Given the description of an element on the screen output the (x, y) to click on. 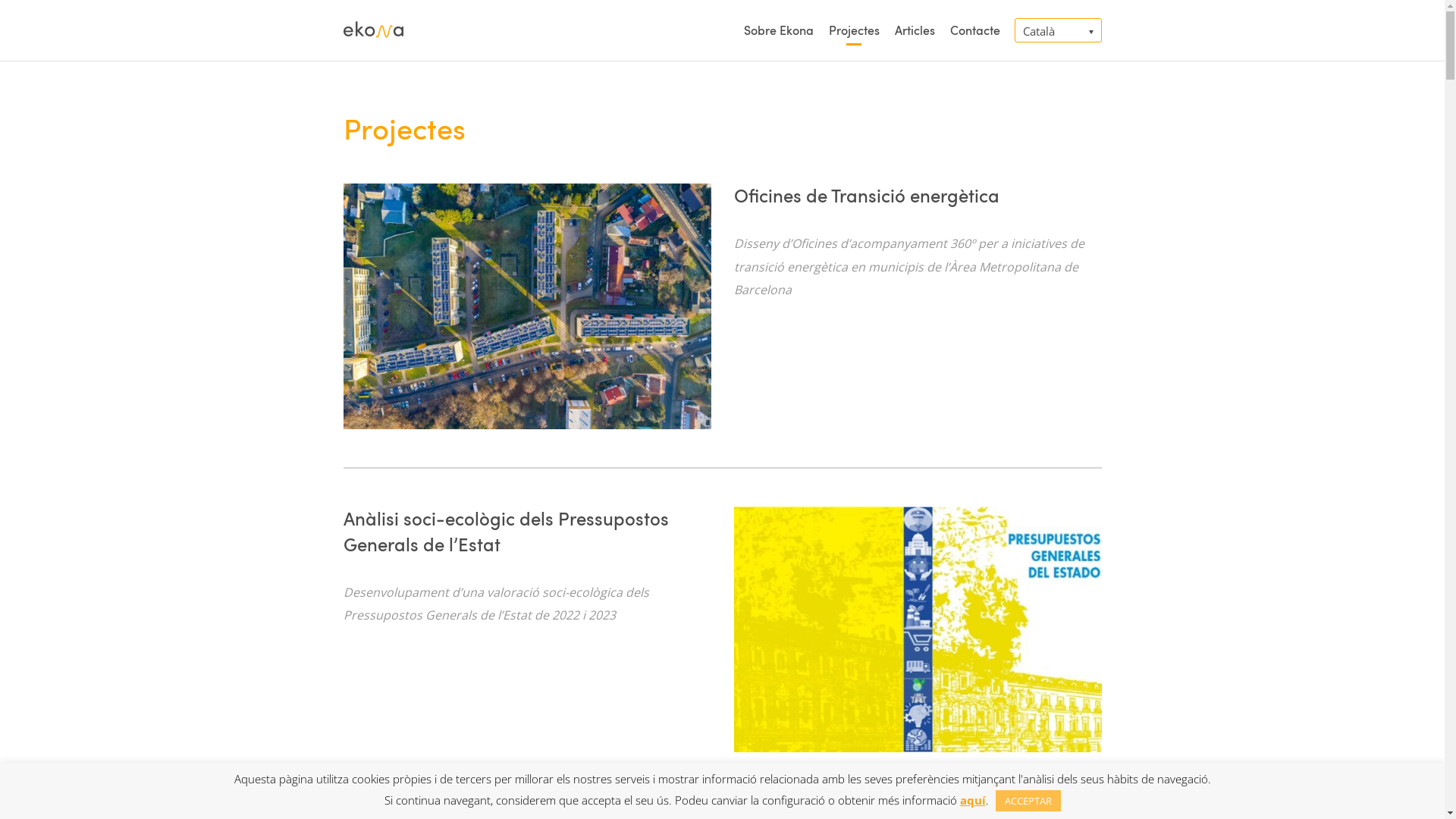
Sobre Ekona Element type: text (777, 29)
Articles Element type: text (914, 29)
Projectes Element type: text (853, 29)
Contacte Element type: text (970, 29)
ACCEPTAR Element type: text (1027, 800)
